Given the description of an element on the screen output the (x, y) to click on. 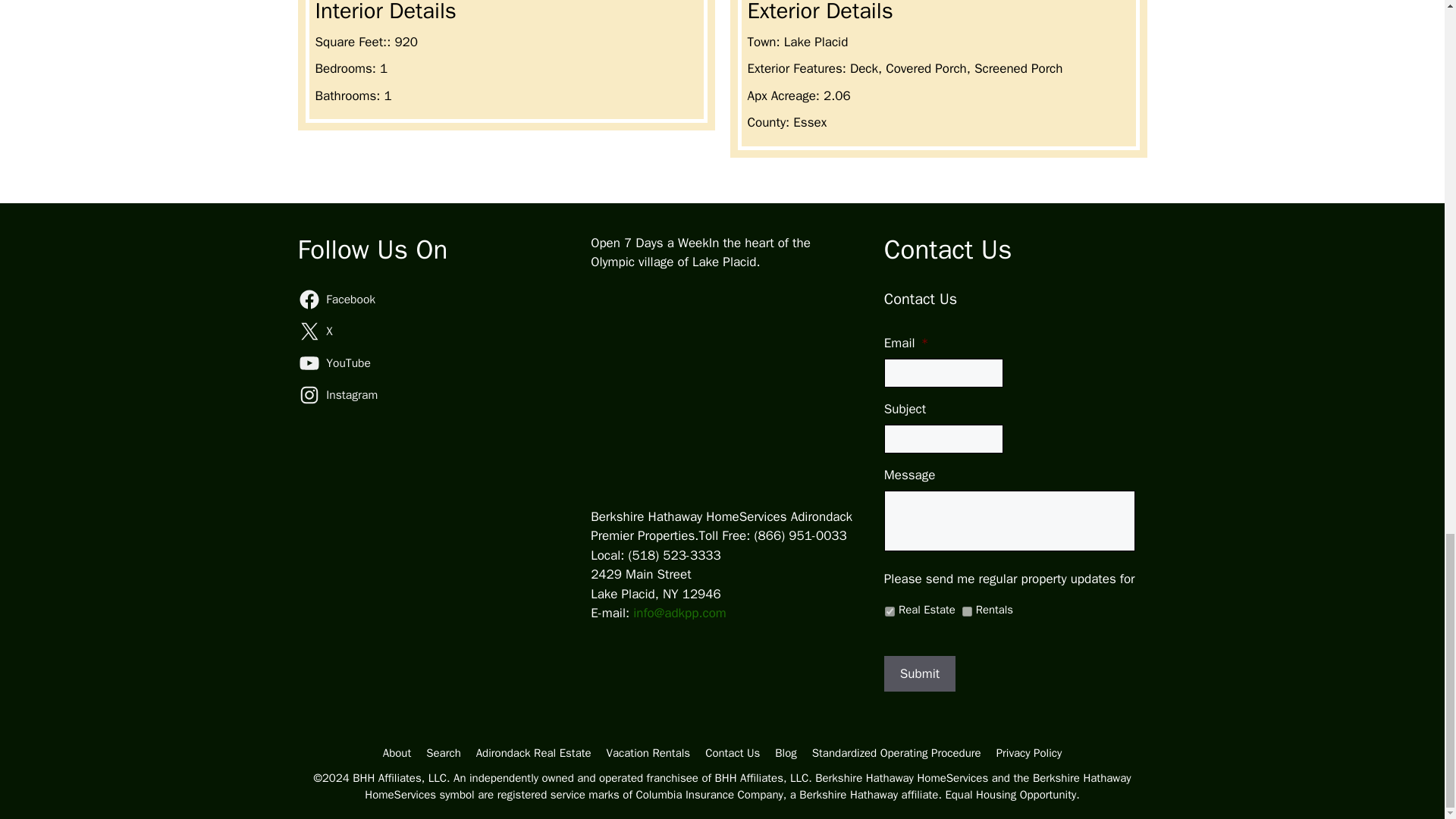
Submit (919, 674)
Rentals (967, 611)
Real Estate (890, 611)
